Given the description of an element on the screen output the (x, y) to click on. 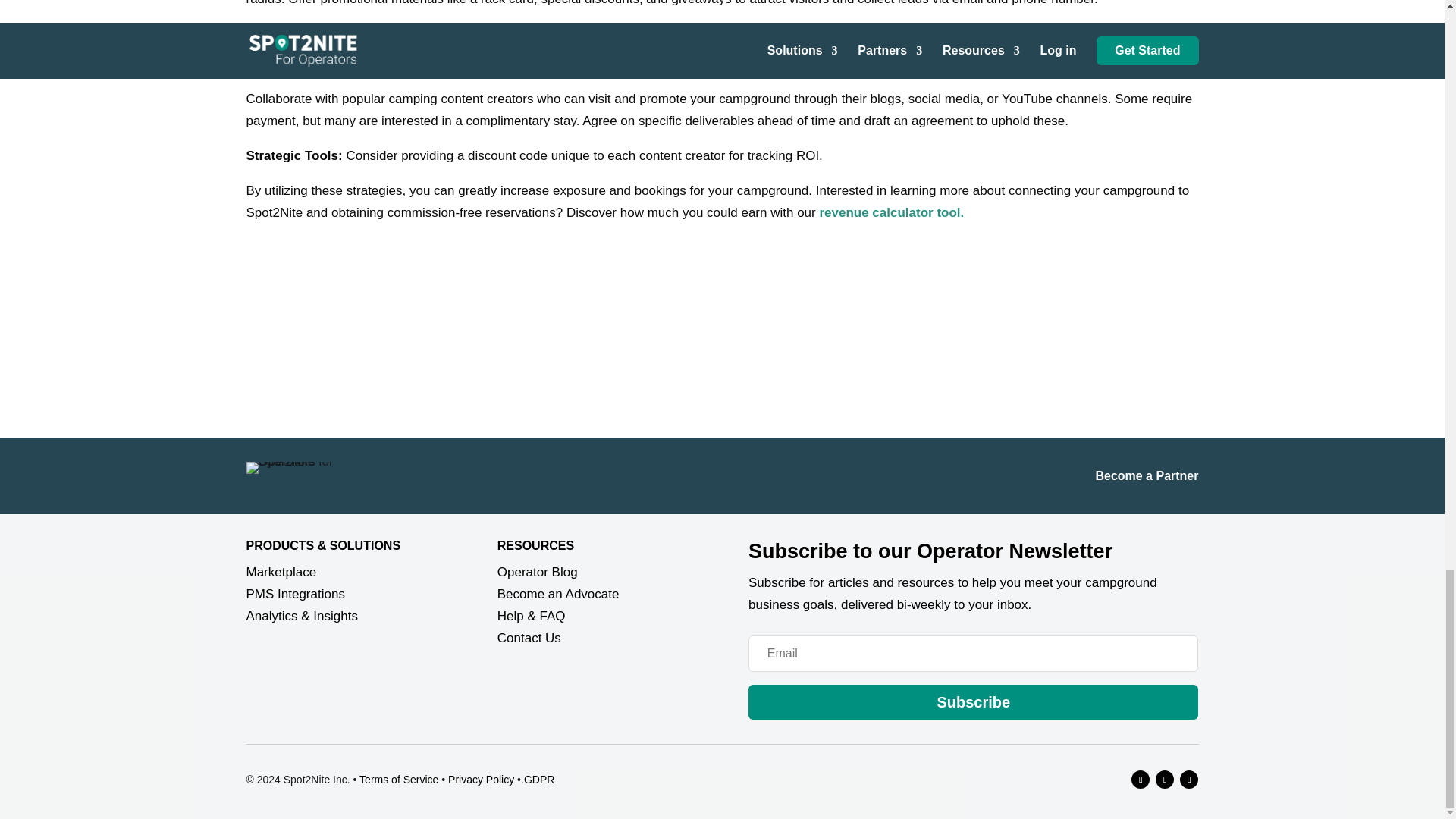
Privacy Policy (480, 779)
Marketplace (280, 572)
Marketplace (280, 572)
Become a Partner (1146, 475)
Contact Us (528, 637)
Spot2Nite for Operators (302, 467)
Follow on Facebook (1140, 779)
revenue calculator tool. (890, 212)
PMS Integrations (294, 594)
Follow on LinkedIn (1164, 779)
